Given the description of an element on the screen output the (x, y) to click on. 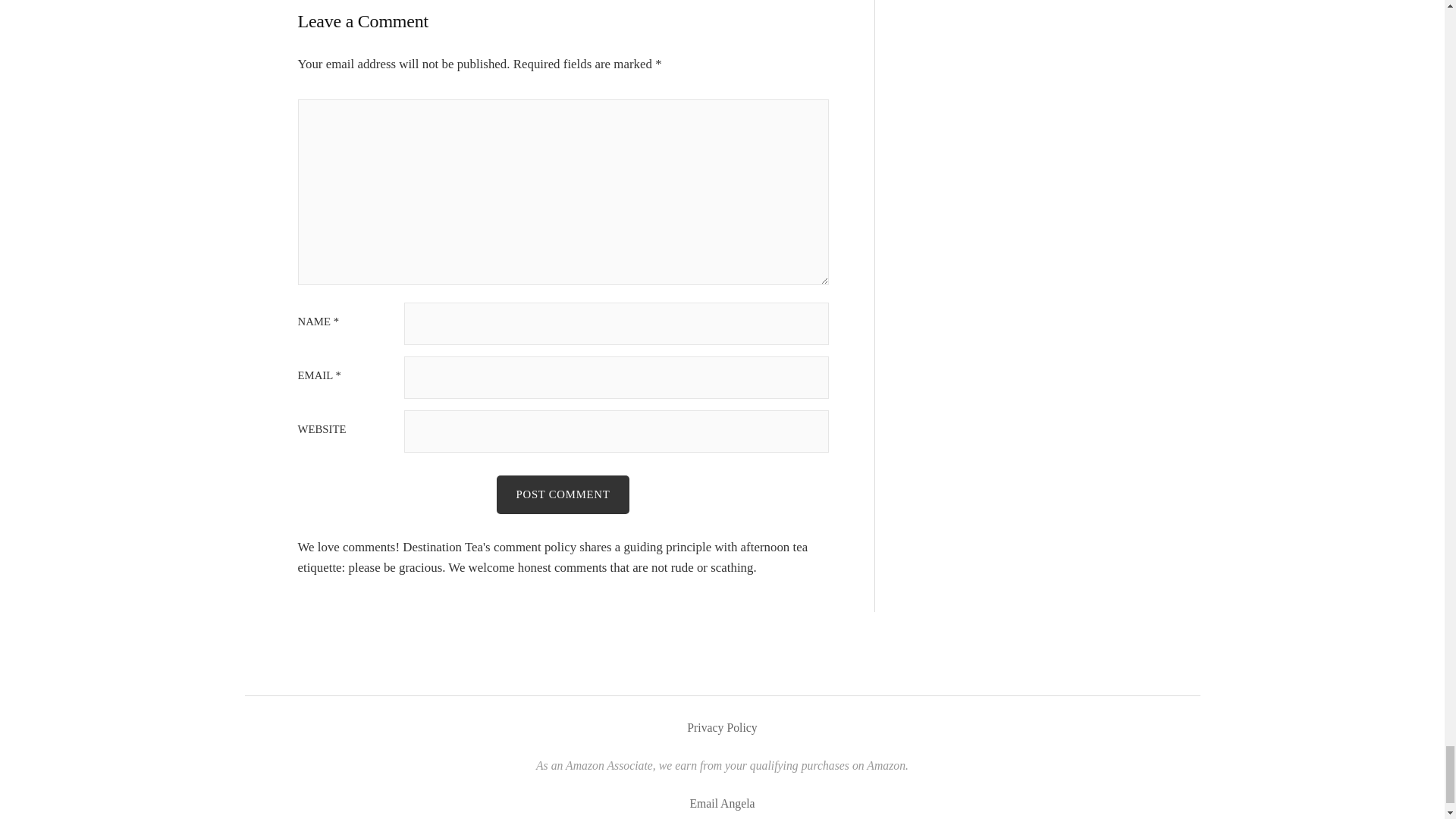
Post Comment (562, 494)
